Given the description of an element on the screen output the (x, y) to click on. 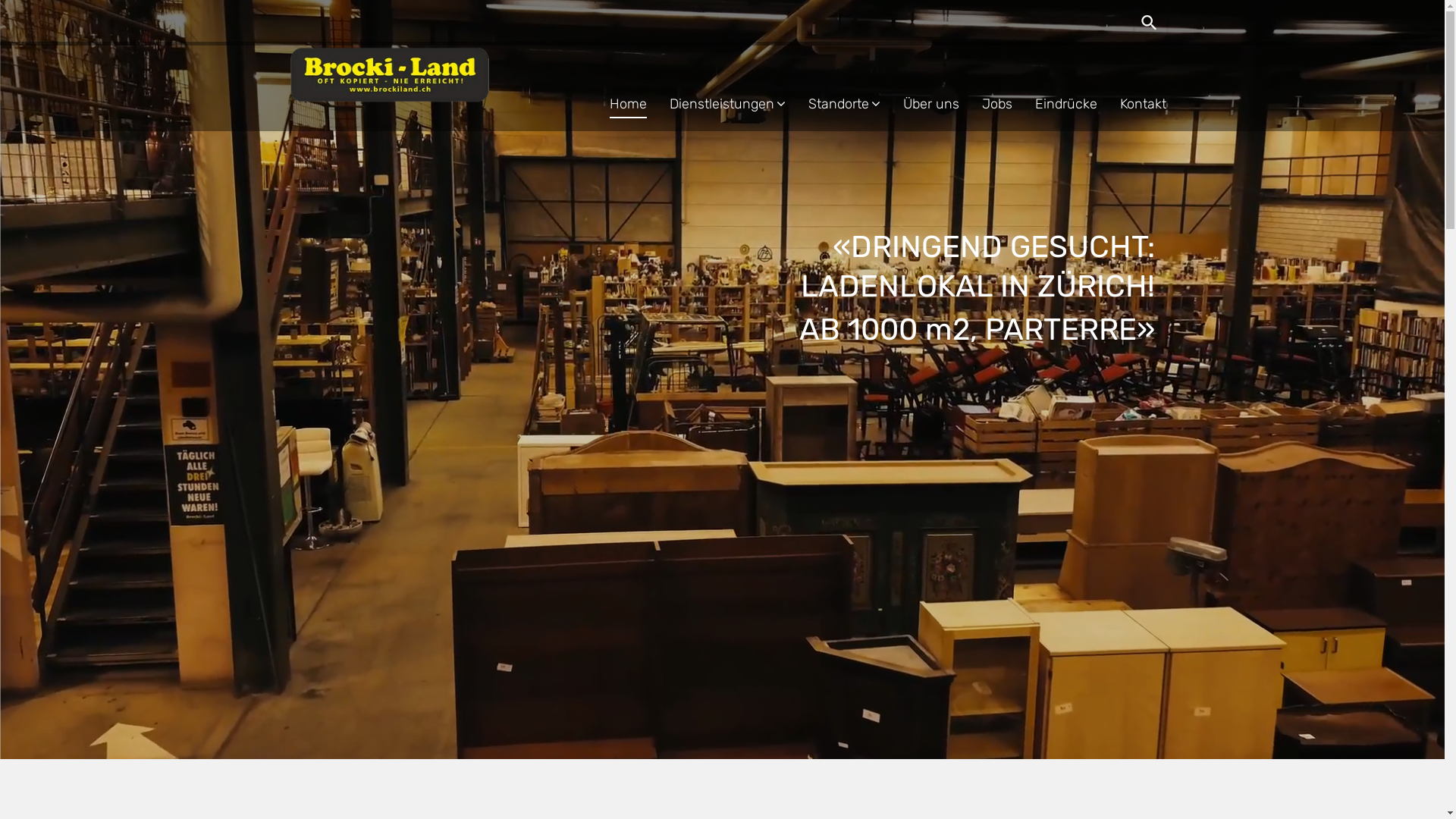
Dienstleistungen Element type: text (715, 103)
Home Element type: text (616, 103)
Jobs Element type: text (984, 103)
Kontakt Element type: text (1130, 103)
Standorte Element type: text (832, 103)
